Given the description of an element on the screen output the (x, y) to click on. 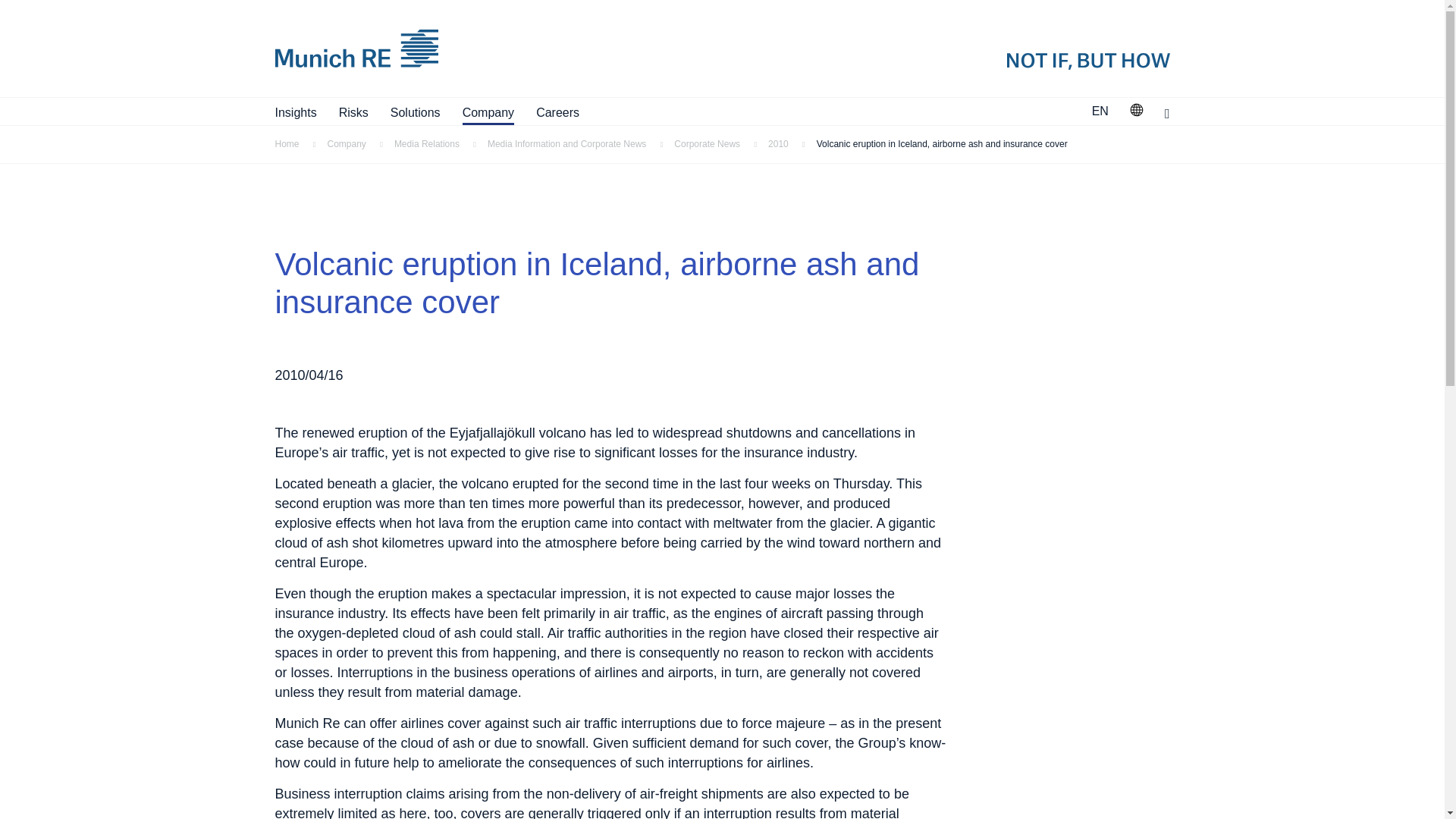
Munich Re (521, 48)
Solutions (415, 112)
Risks (353, 112)
Insights (295, 112)
Munich Re claim (968, 48)
Munich Re logo (542, 48)
Company (488, 112)
Open (1136, 109)
Careers (557, 112)
